Given the description of an element on the screen output the (x, y) to click on. 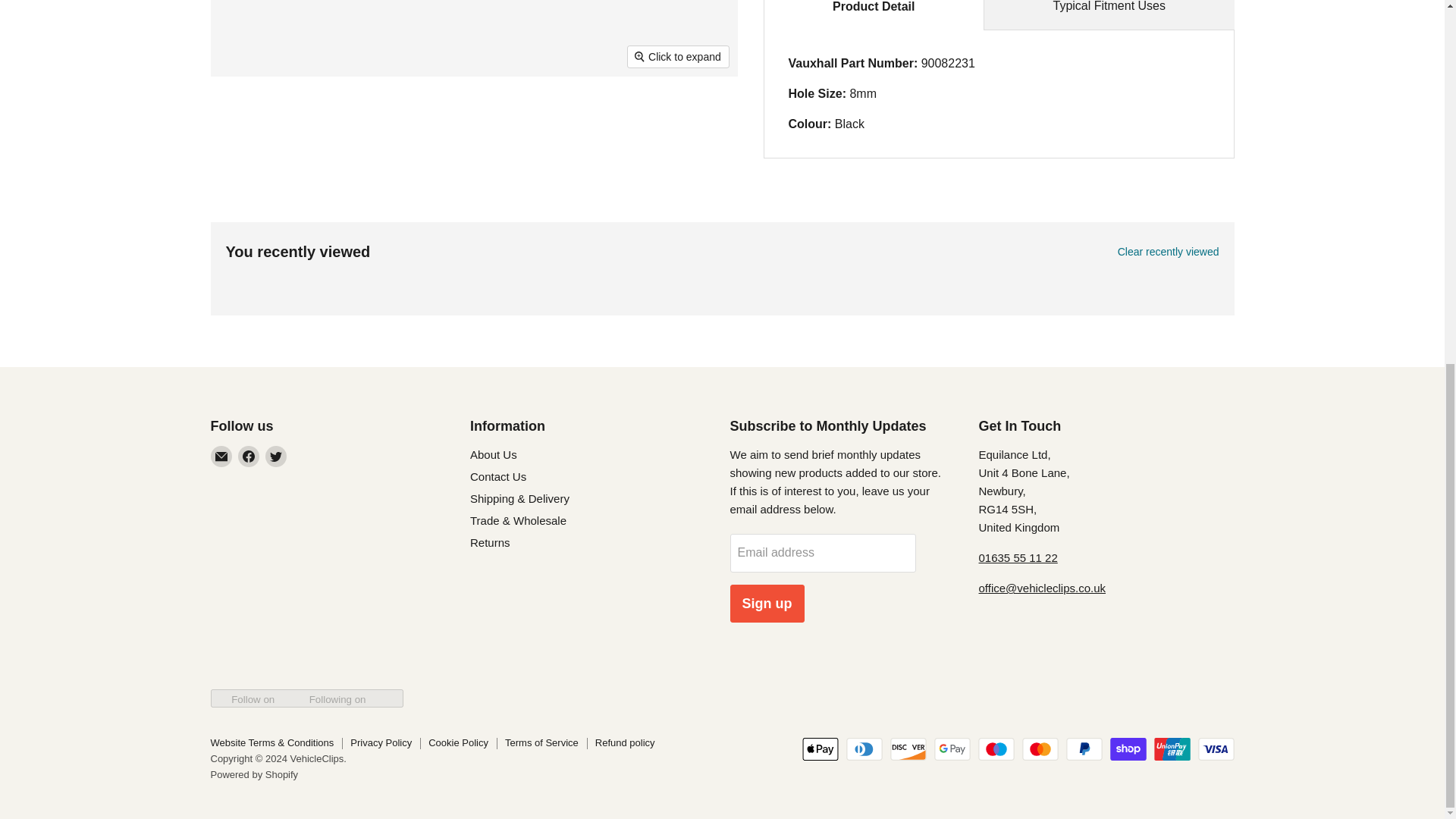
Apple Pay (820, 748)
Facebook (248, 455)
Discover (907, 748)
Twitter (275, 455)
Email (221, 455)
Google Pay (952, 748)
Diners Club (863, 748)
